Given the description of an element on the screen output the (x, y) to click on. 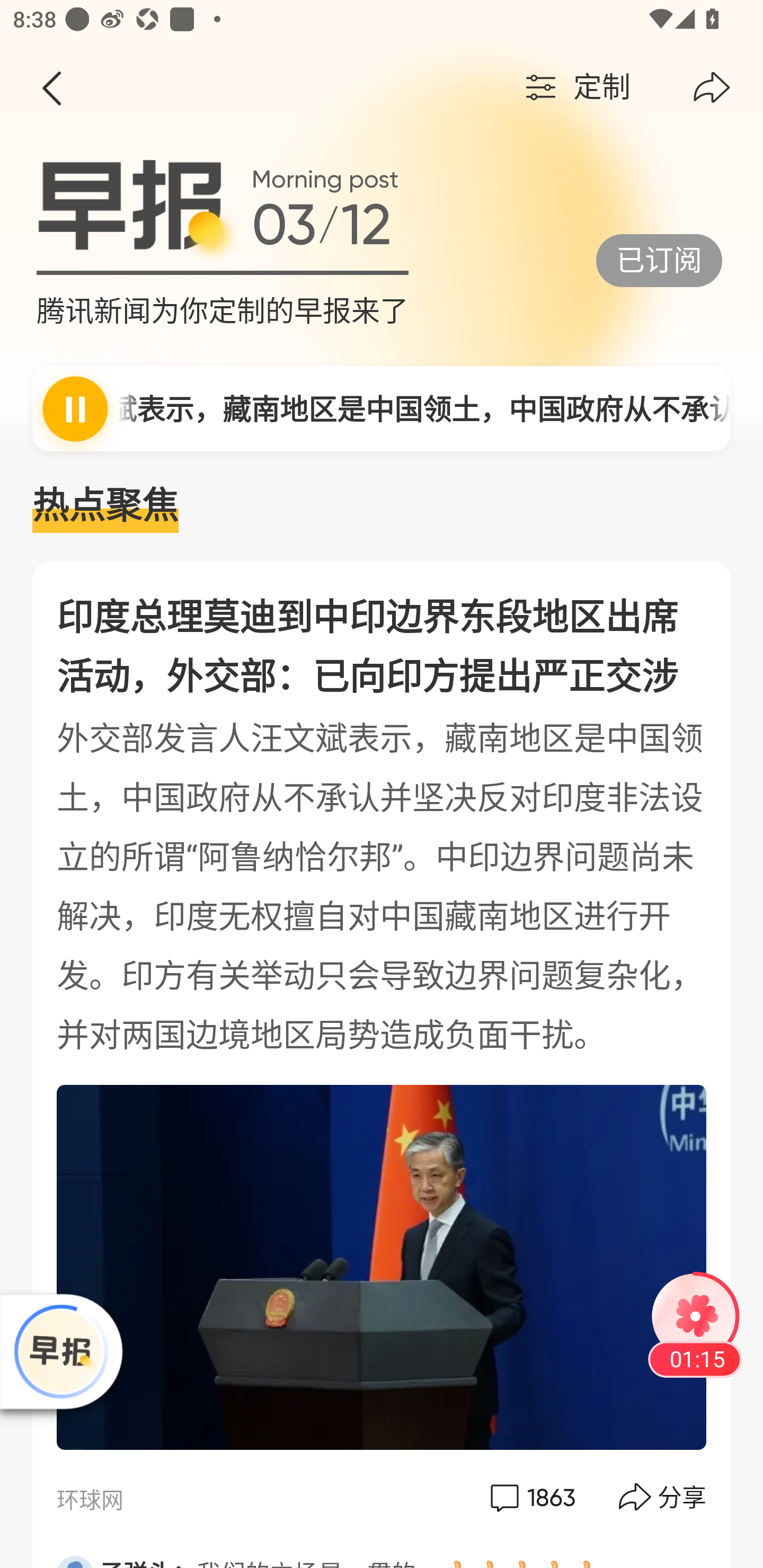
 (50, 87)
 定制 (575, 87)
 (711, 87)
已订阅 (658, 259)
热点聚焦 (381, 506)
播放器 (60, 1351)
评论  1863 (531, 1497)
 分享 (663, 1497)
